Given the description of an element on the screen output the (x, y) to click on. 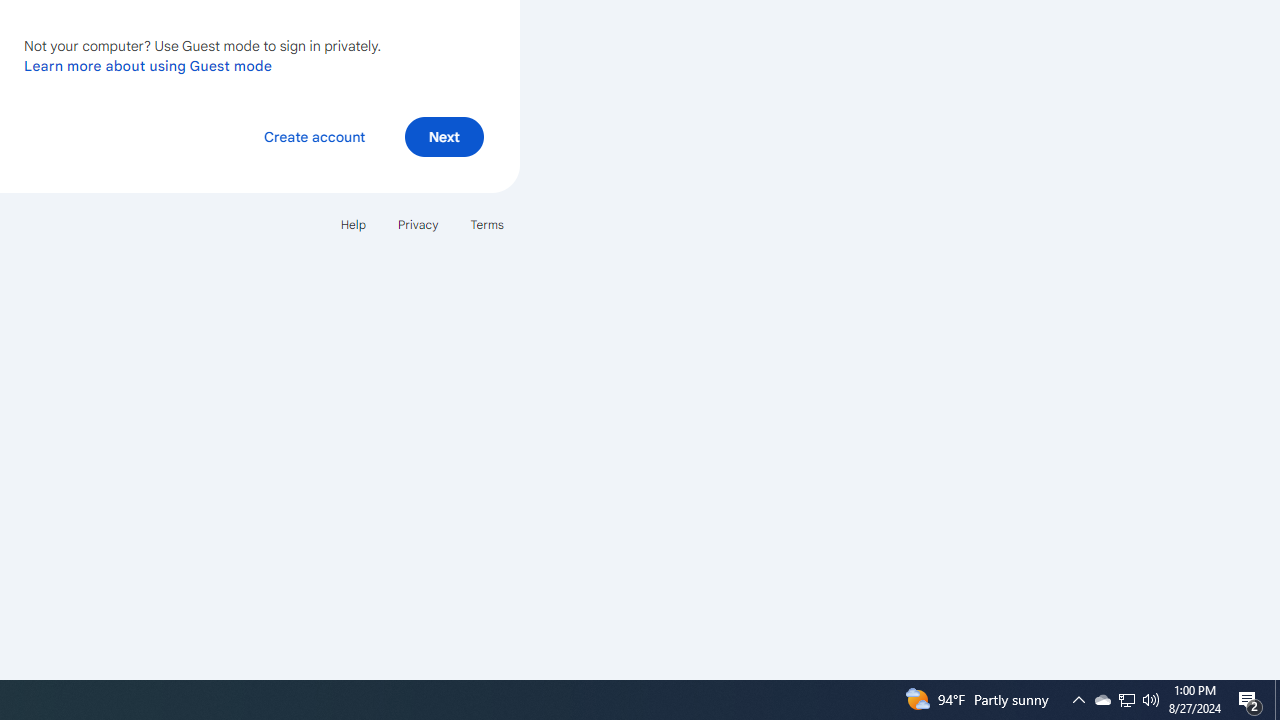
Terms (486, 224)
Learn more about using Guest mode (148, 65)
Create account (314, 135)
Next (443, 135)
Privacy (417, 224)
Help (352, 224)
